Given the description of an element on the screen output the (x, y) to click on. 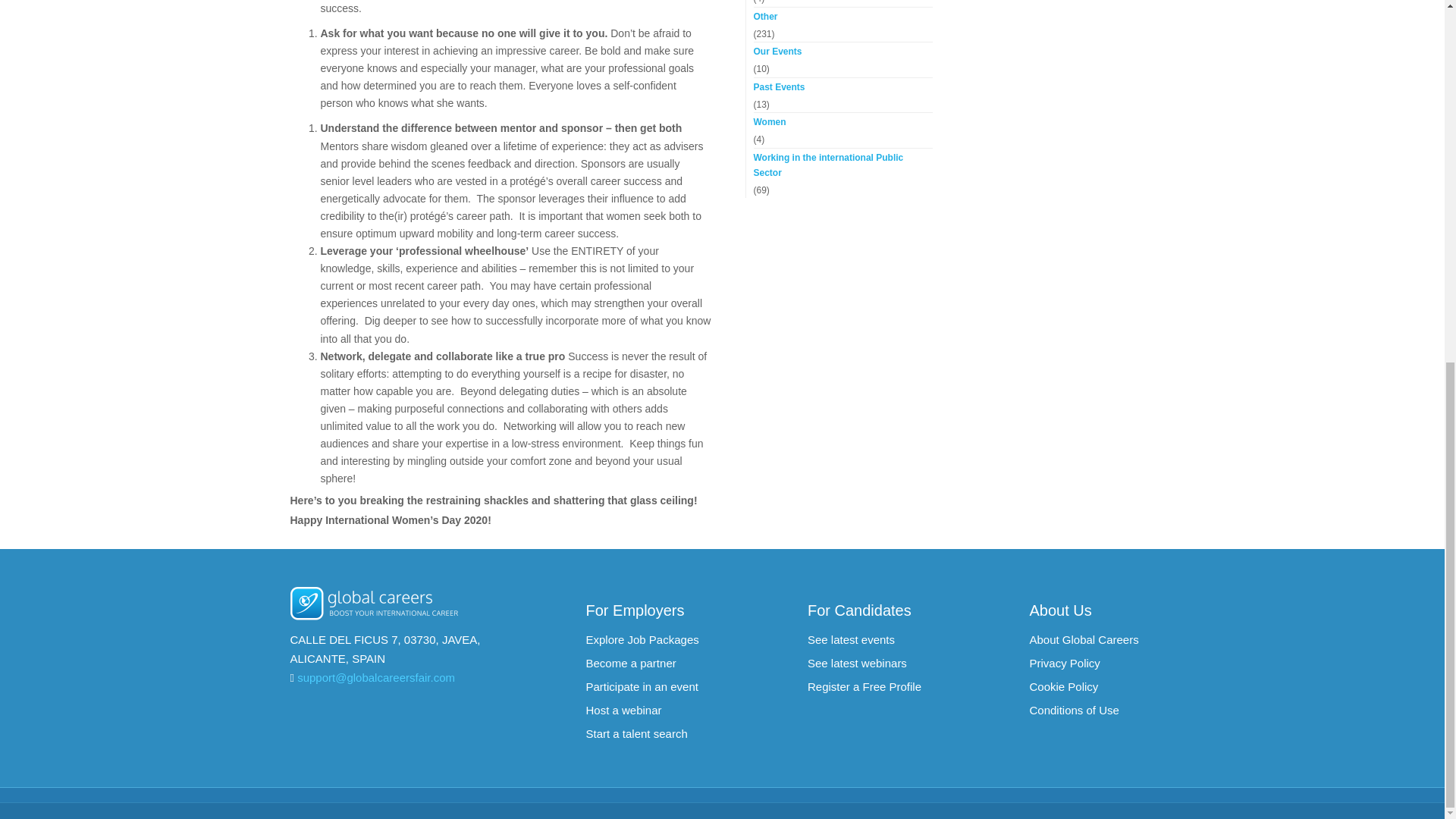
Other (843, 16)
Women (843, 122)
Past Events (843, 86)
Working in the international Public Sector (843, 165)
Our Events (843, 51)
